Given the description of an element on the screen output the (x, y) to click on. 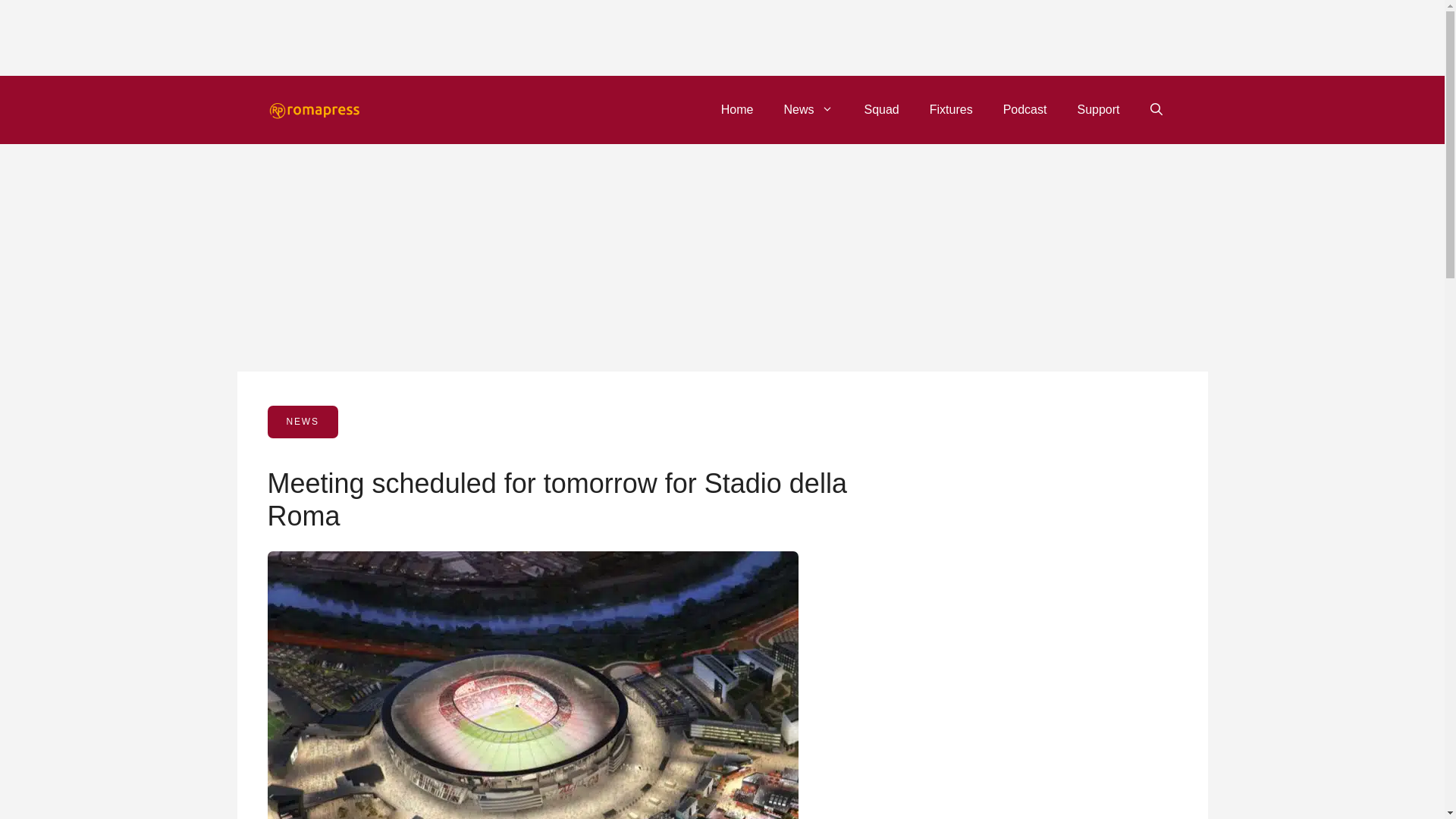
Podcast (1025, 109)
Squad (881, 109)
Support (1097, 109)
Fixtures (951, 109)
News (808, 109)
Home (737, 109)
